Given the description of an element on the screen output the (x, y) to click on. 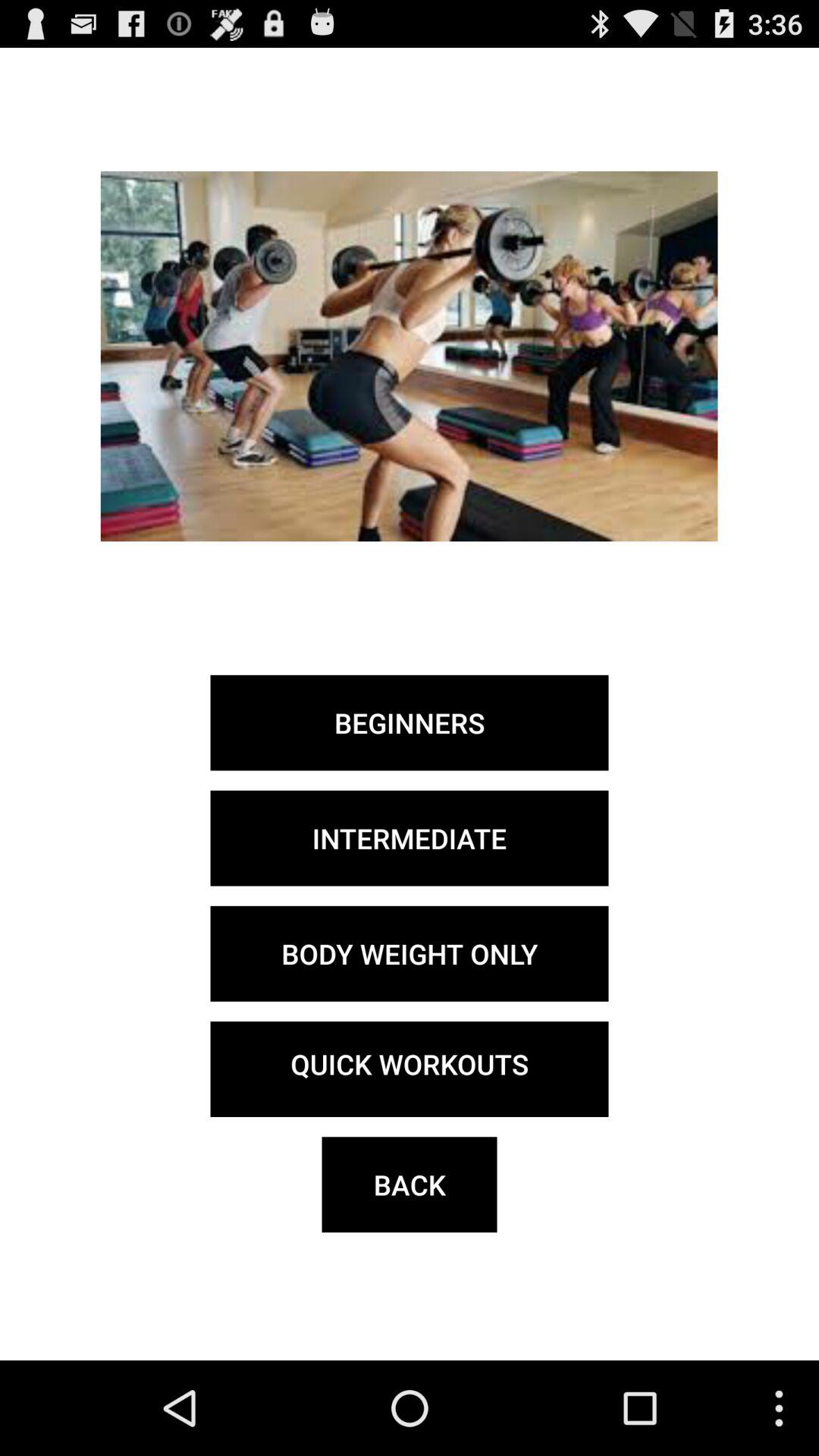
scroll until the body weight only icon (409, 953)
